Given the description of an element on the screen output the (x, y) to click on. 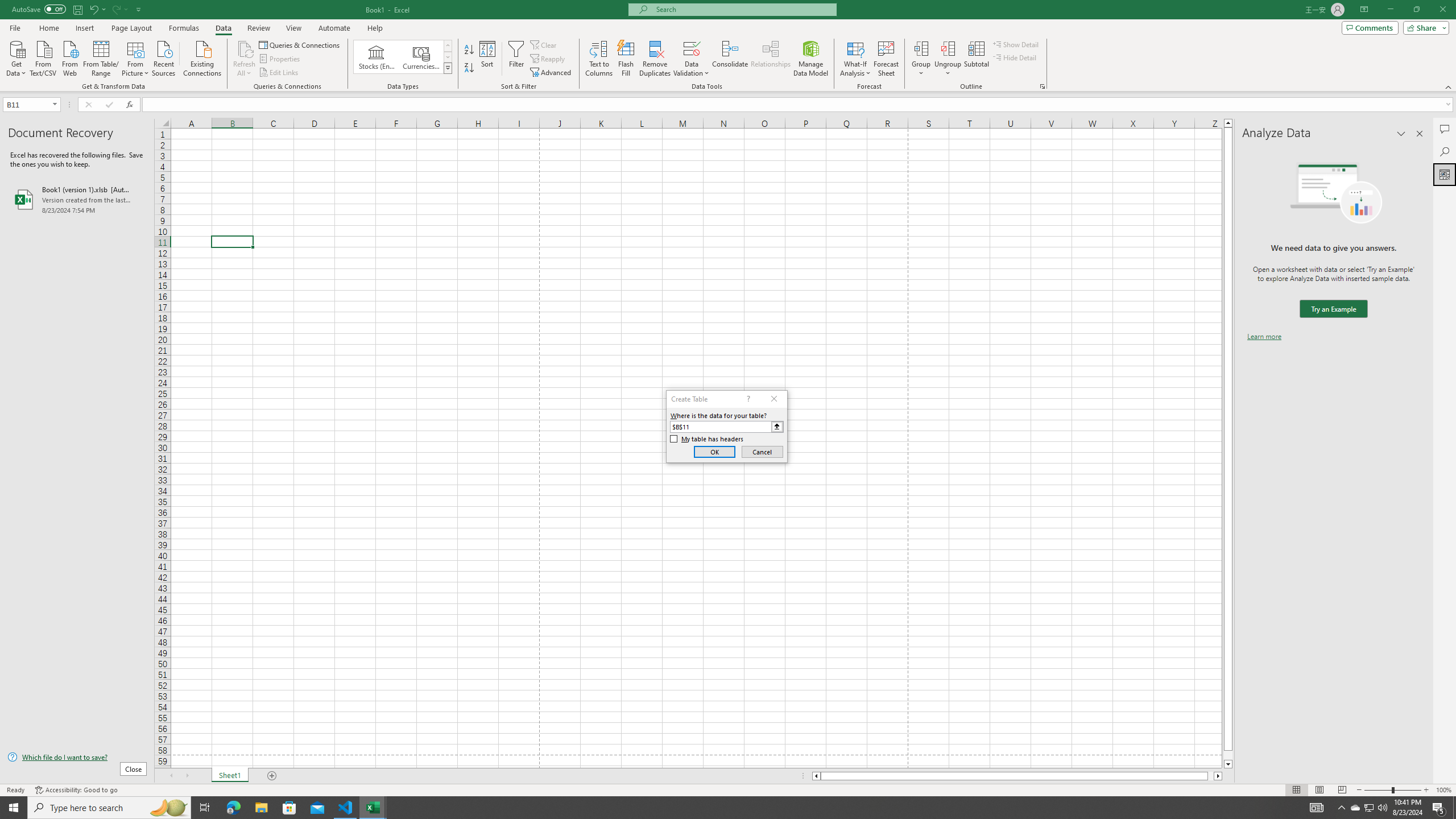
Properties (280, 58)
Sort Z to A (469, 67)
AutomationID: ConvertToLinkedEntity (403, 56)
